Given the description of an element on the screen output the (x, y) to click on. 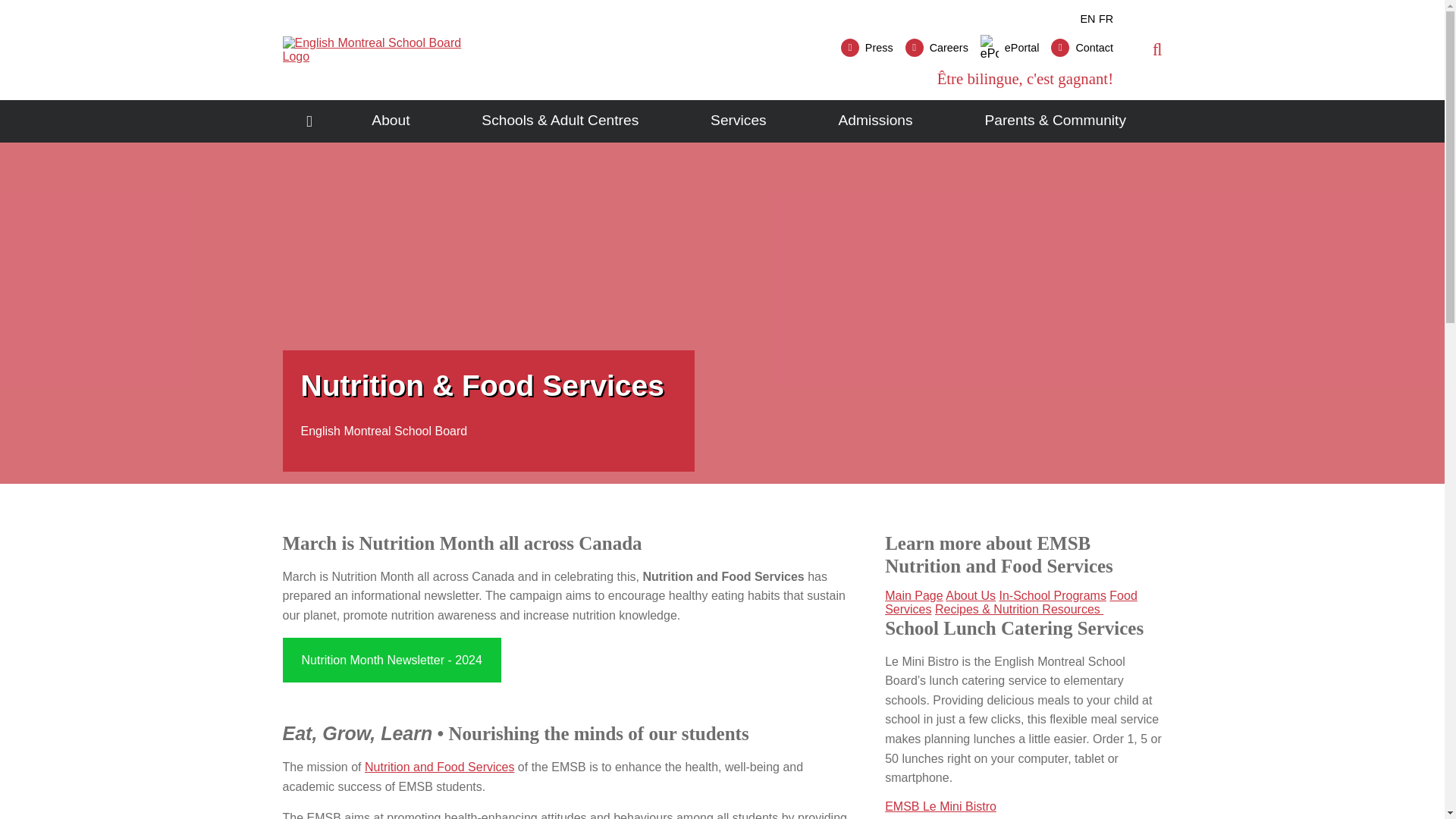
Search (1122, 104)
staff portal, employee services, student portal, eportal (1009, 47)
EN (1087, 19)
Press (867, 47)
Contact (1082, 47)
About (390, 120)
FR (1106, 19)
job opportunities (936, 47)
ePortal (1009, 47)
get in touch (1082, 47)
